Given the description of an element on the screen output the (x, y) to click on. 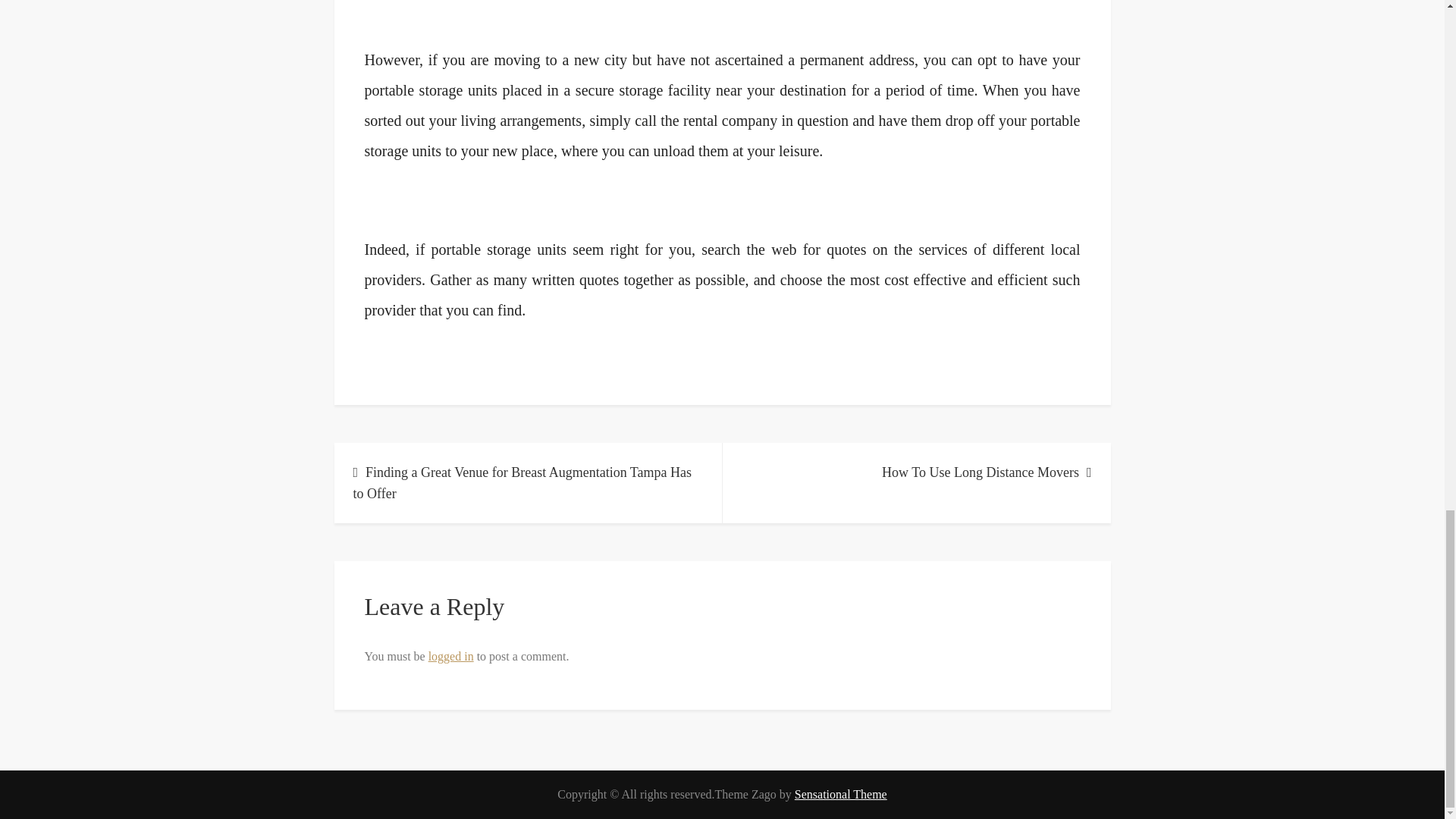
logged in (451, 656)
How To Use Long Distance Movers (915, 472)
Sensational Theme (840, 793)
